Given the description of an element on the screen output the (x, y) to click on. 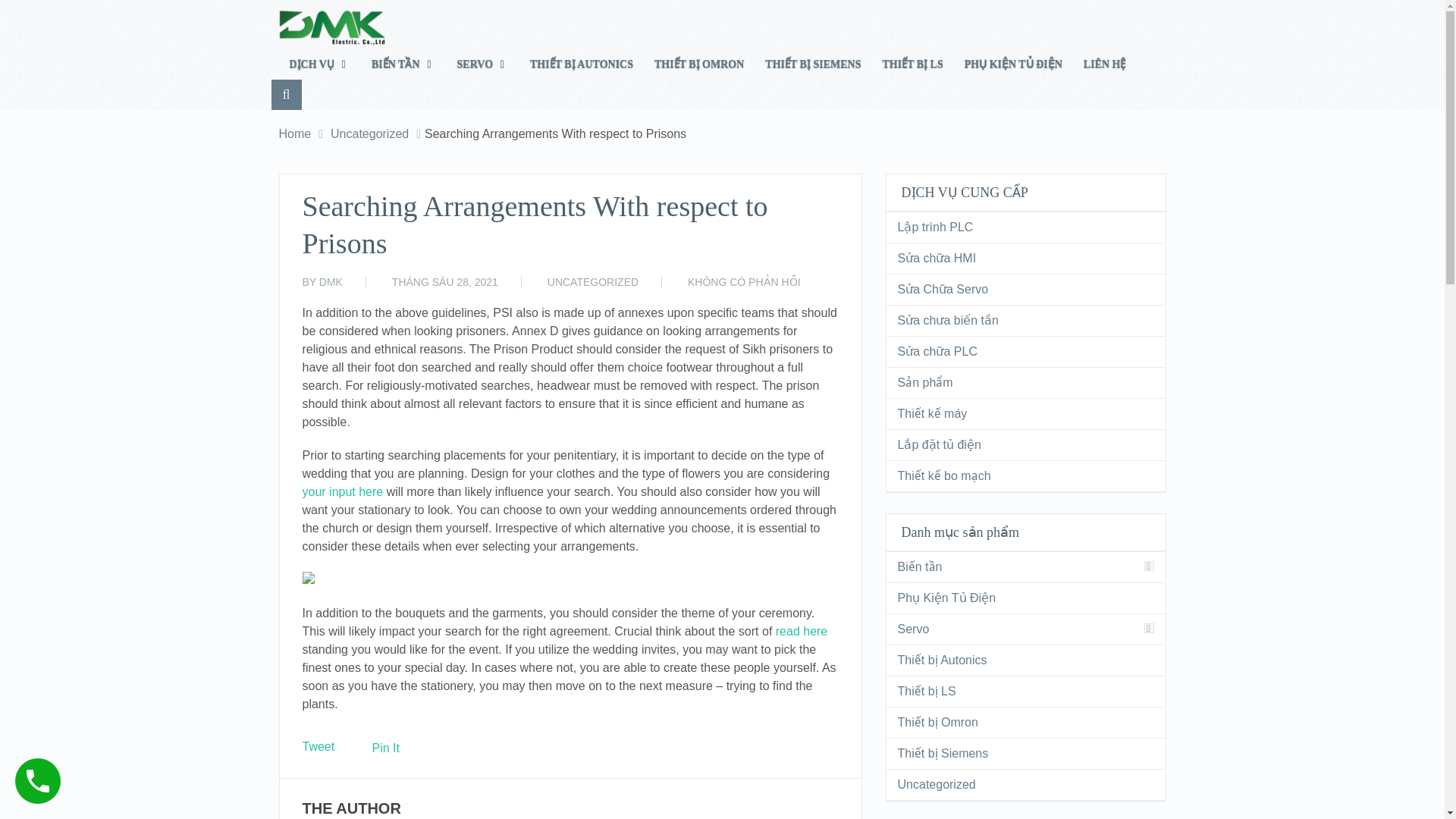
your input here (341, 491)
UNCATEGORIZED (593, 282)
SERVO (482, 64)
Home (295, 133)
DMK (330, 282)
Uncategorized (369, 133)
View all posts in Uncategorized (593, 282)
